Given the description of an element on the screen output the (x, y) to click on. 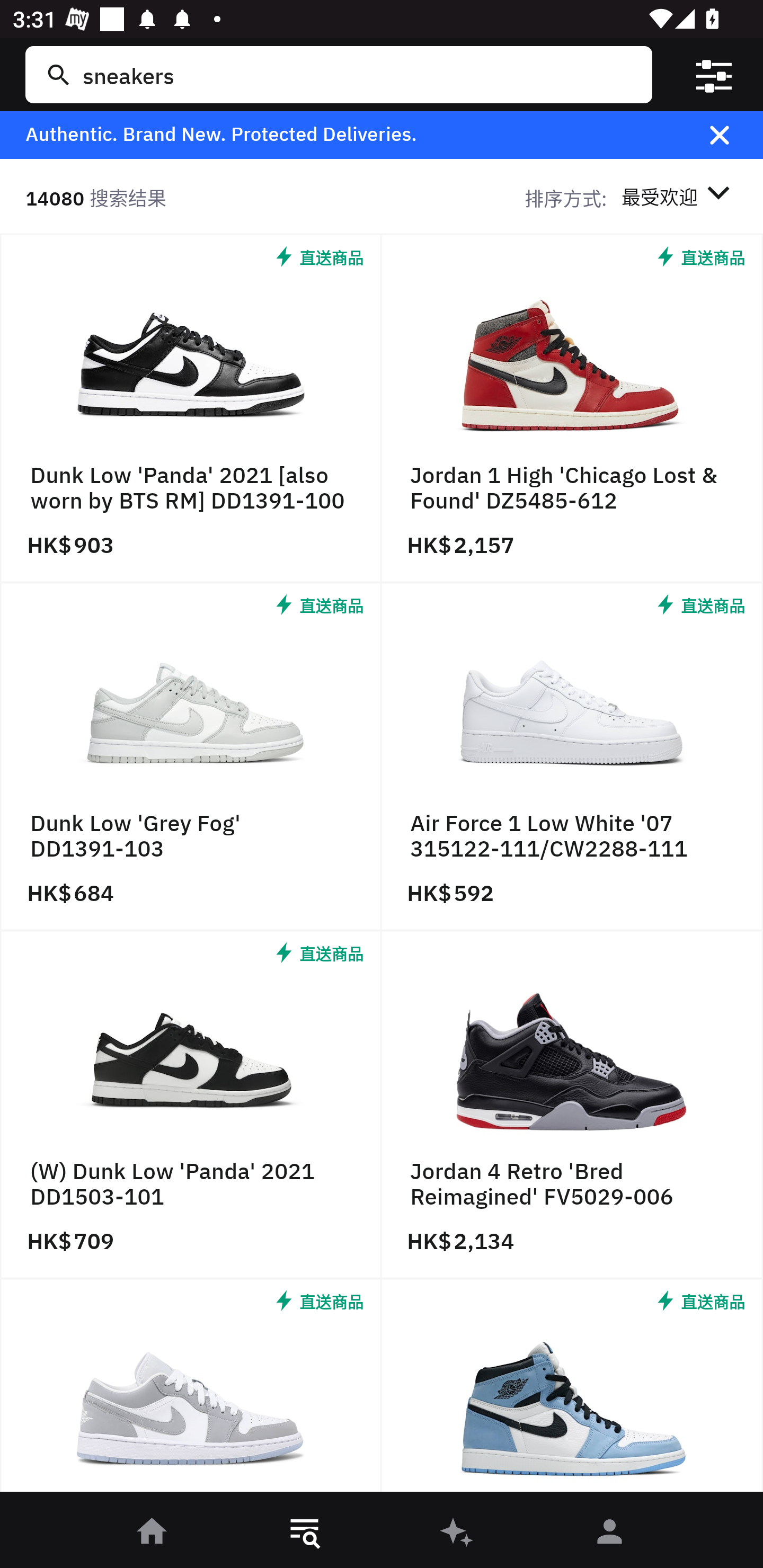
sneakers (358, 74)
 (713, 74)
Authentic. Brand New. Protected Deliveries. (350, 134)
 (732, 134)
最受欢迎  (678, 196)
 直送商品 Dunk Low 'Grey Fog' DD1391-103 HK$ 684 (190, 757)
 直送商品 (190, 1389)
 直送商品 (572, 1389)
󰋜 (152, 1532)
󱎸 (305, 1532)
󰫢 (457, 1532)
󰀄 (610, 1532)
